Given the description of an element on the screen output the (x, y) to click on. 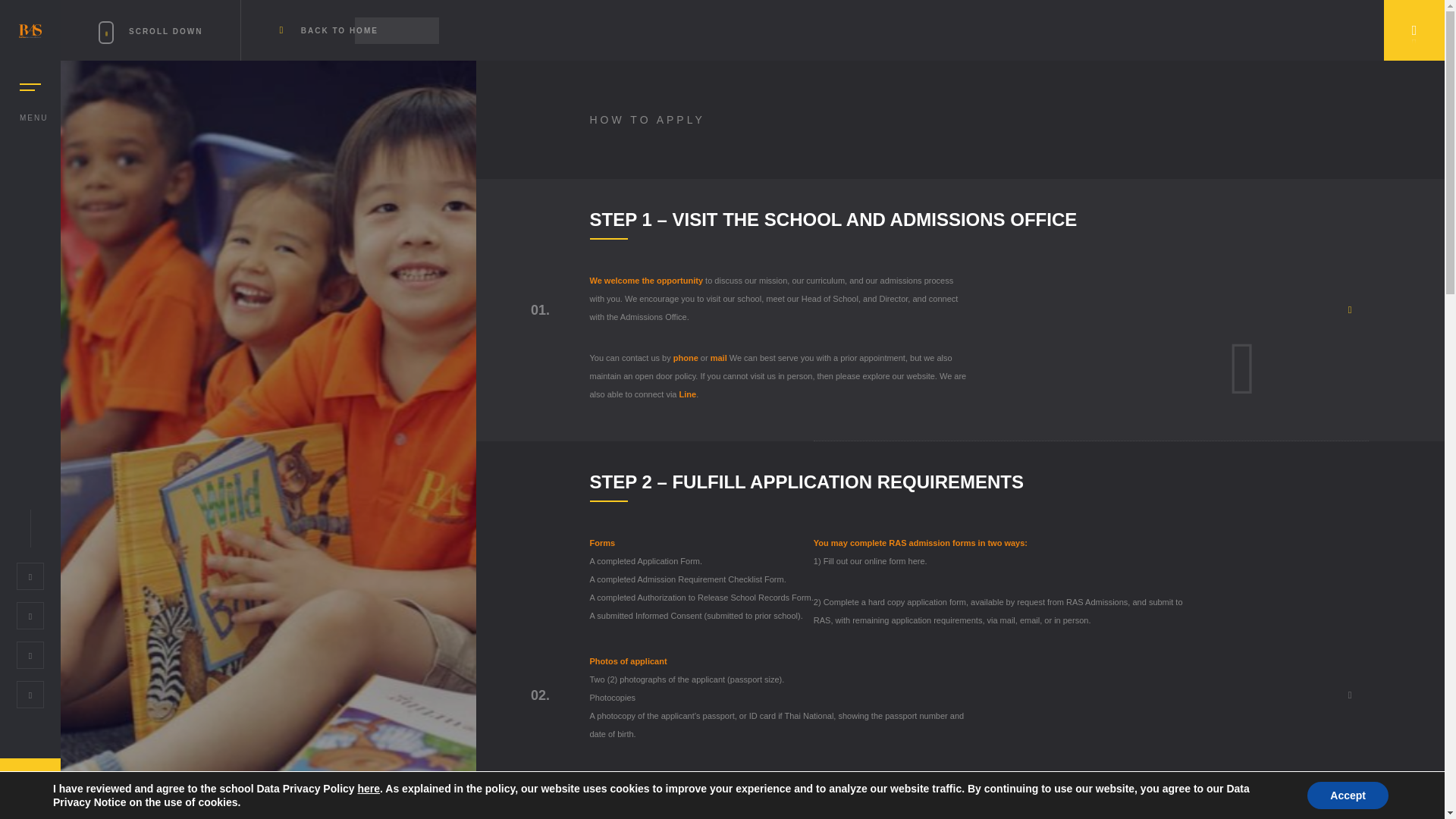
phone (685, 357)
Line (688, 393)
BACK TO HOME (328, 30)
mail (718, 357)
SCROLL DOWN (170, 30)
